Given the description of an element on the screen output the (x, y) to click on. 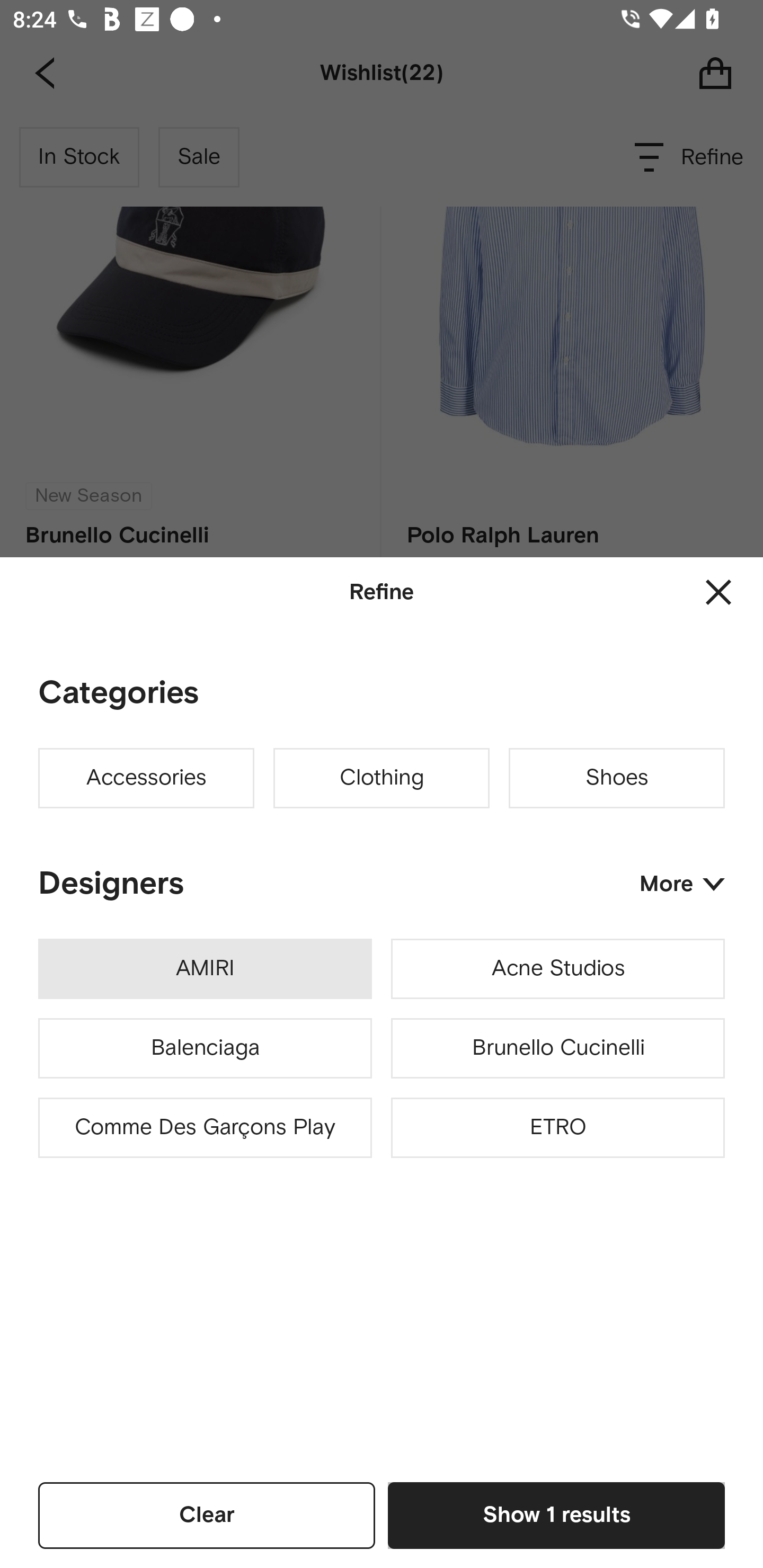
Accessories (146, 778)
Clothing (381, 778)
Shoes (616, 778)
More (681, 884)
AMIRI (205, 968)
Acne Studios (557, 968)
Balenciaga (205, 1047)
Brunello Cucinelli (557, 1047)
Comme Des Garçons Play (205, 1127)
ETRO (557, 1127)
Clear (206, 1515)
Show 1 results (555, 1515)
